Given the description of an element on the screen output the (x, y) to click on. 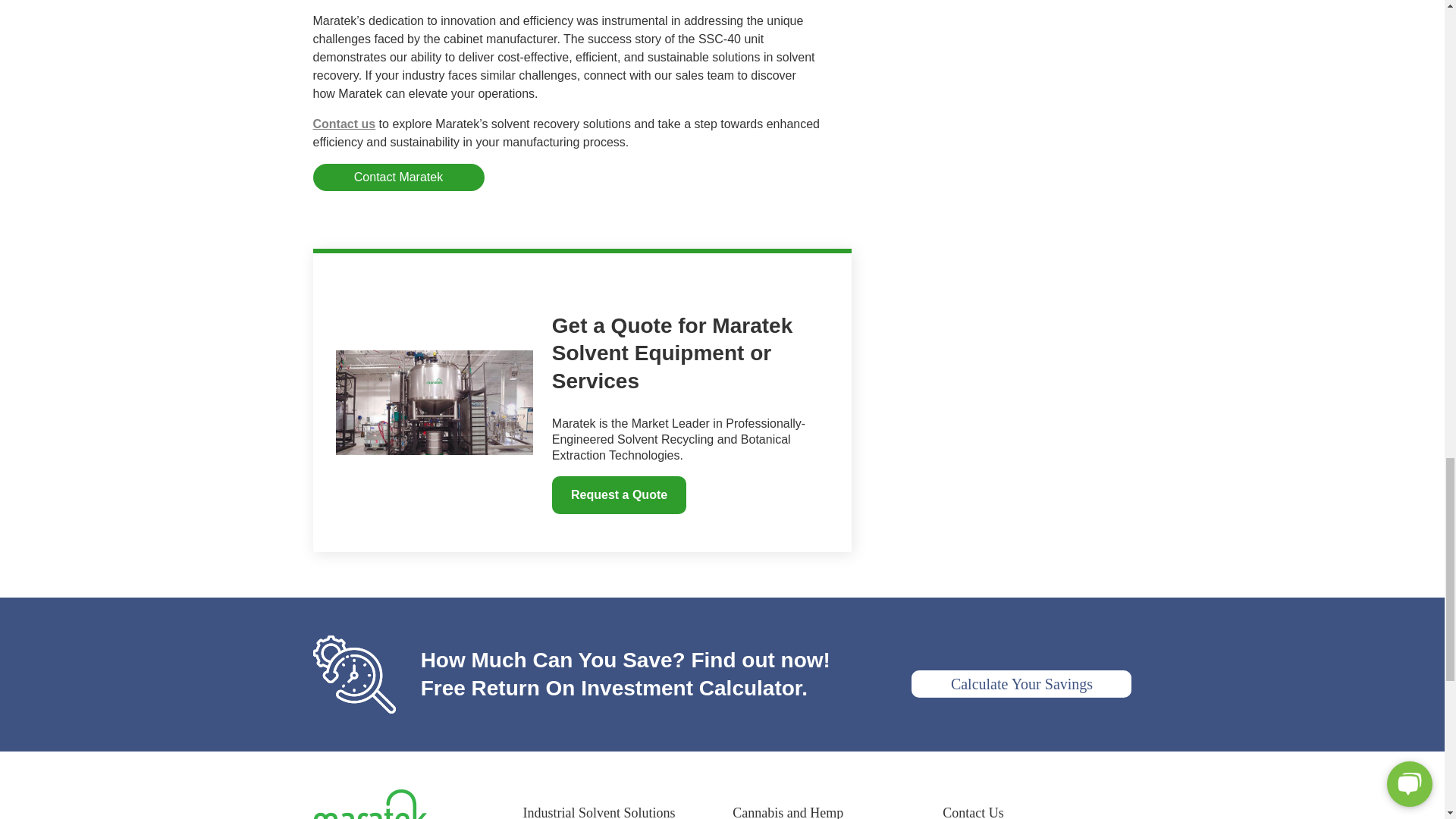
Request a Quote (618, 494)
MaratekEquipmentLogo (369, 804)
Contact Maratek (398, 176)
